Given the description of an element on the screen output the (x, y) to click on. 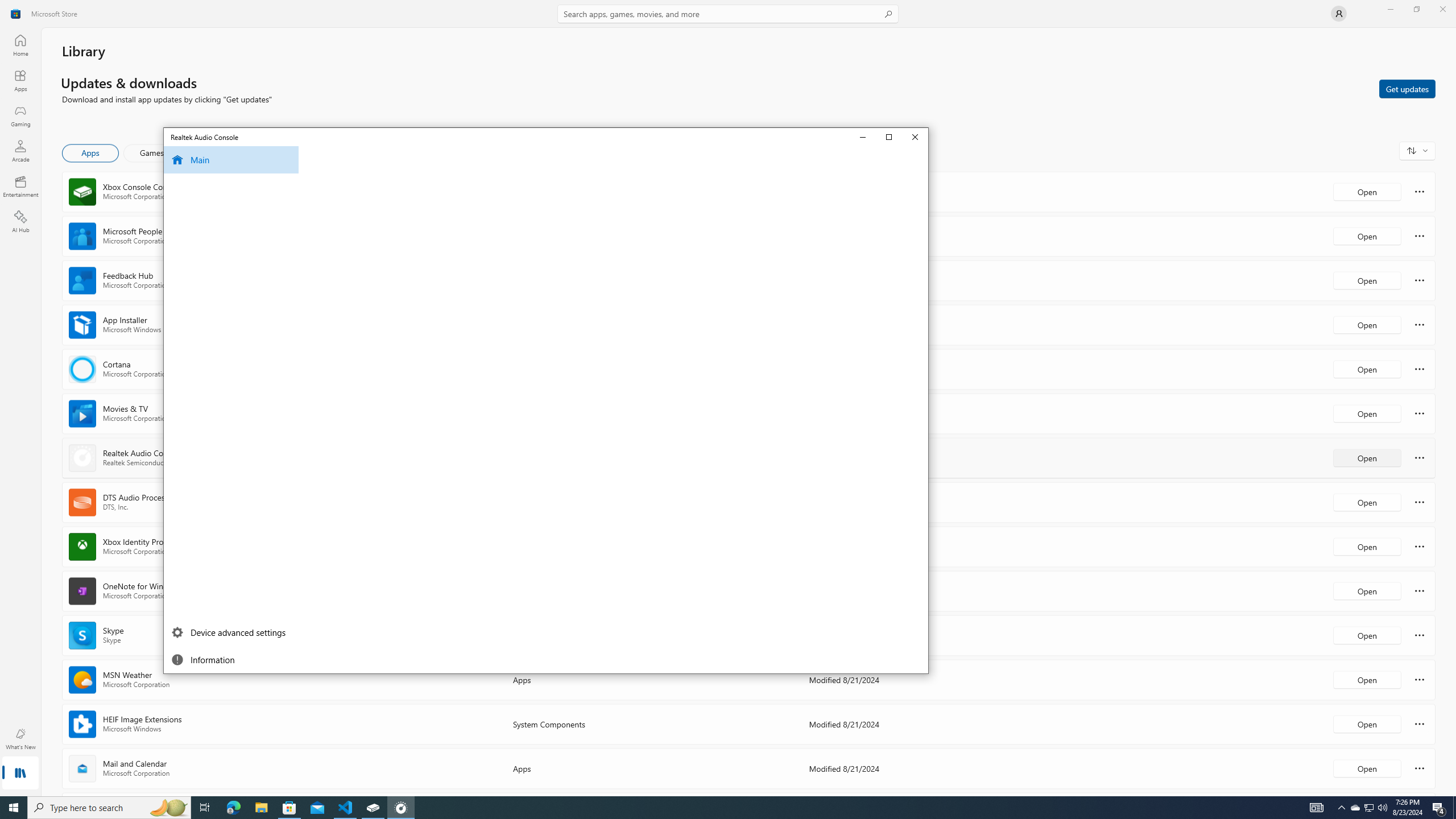
Xbox Console Companion - 1 running window (373, 807)
Realtek Audio Console - 1 running window (1355, 807)
Microsoft Edge (400, 807)
Show desktop (233, 807)
Device advanced settings (1454, 807)
Action Center, 4 new notifications (230, 632)
More options (1439, 807)
Type here to search (1419, 768)
Minimize Realtek Audio Console (108, 807)
Get updates (863, 136)
